Given the description of an element on the screen output the (x, y) to click on. 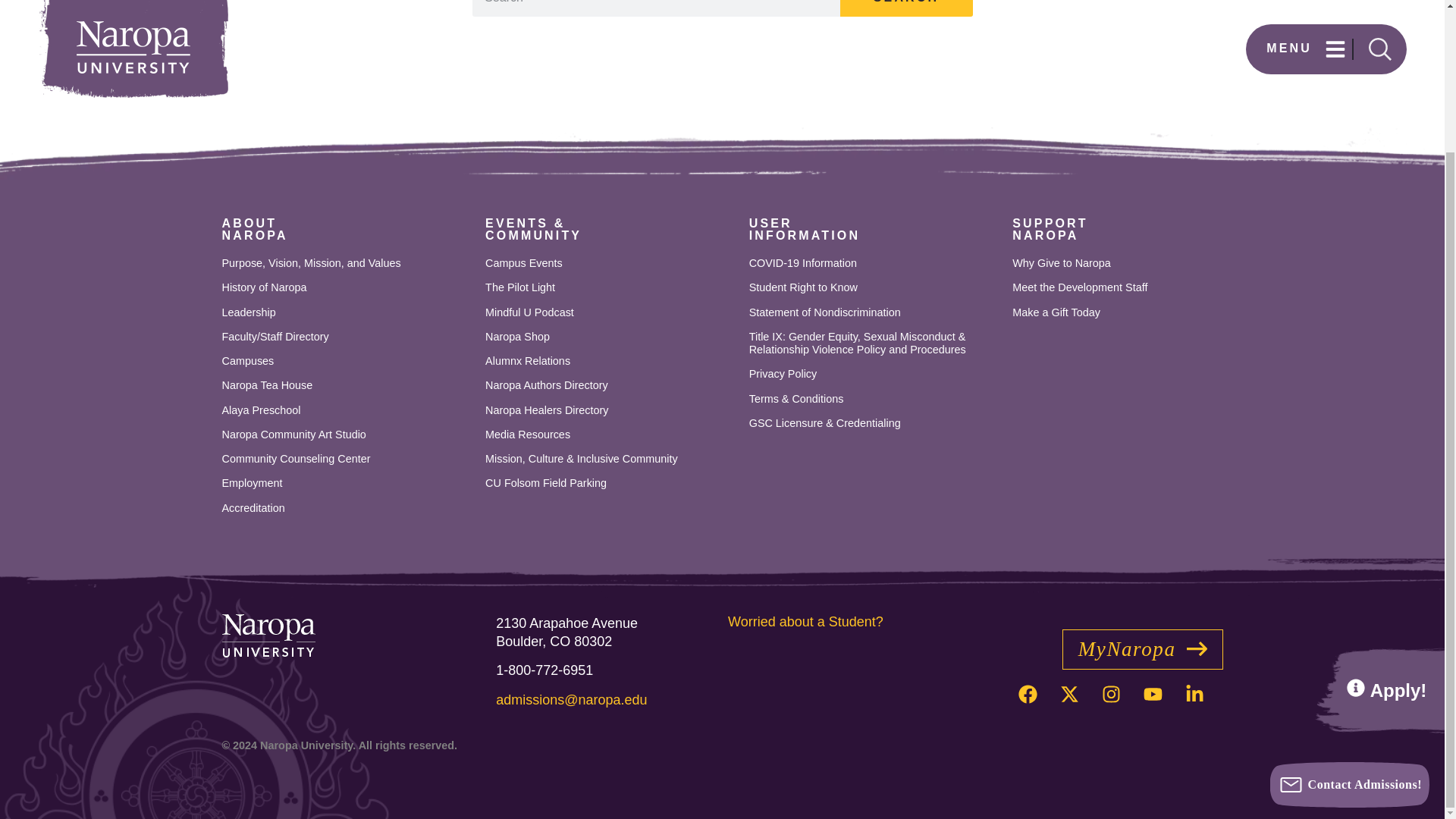
Naropa Authors Directory (609, 385)
Accreditation (346, 508)
Employment (346, 482)
Naropa Community Art Studio (253, 229)
Alaya Preschool (346, 434)
Community Counseling Center (346, 410)
Mindful U Podcast (346, 459)
Naropa Shop (609, 312)
Campus Events (609, 336)
Alumnx Relations (609, 263)
The Pilot Light (609, 360)
Campuses (609, 287)
Purpose, Vision, Mission, and Values (346, 360)
Naropa Tea House (346, 263)
